Given the description of an element on the screen output the (x, y) to click on. 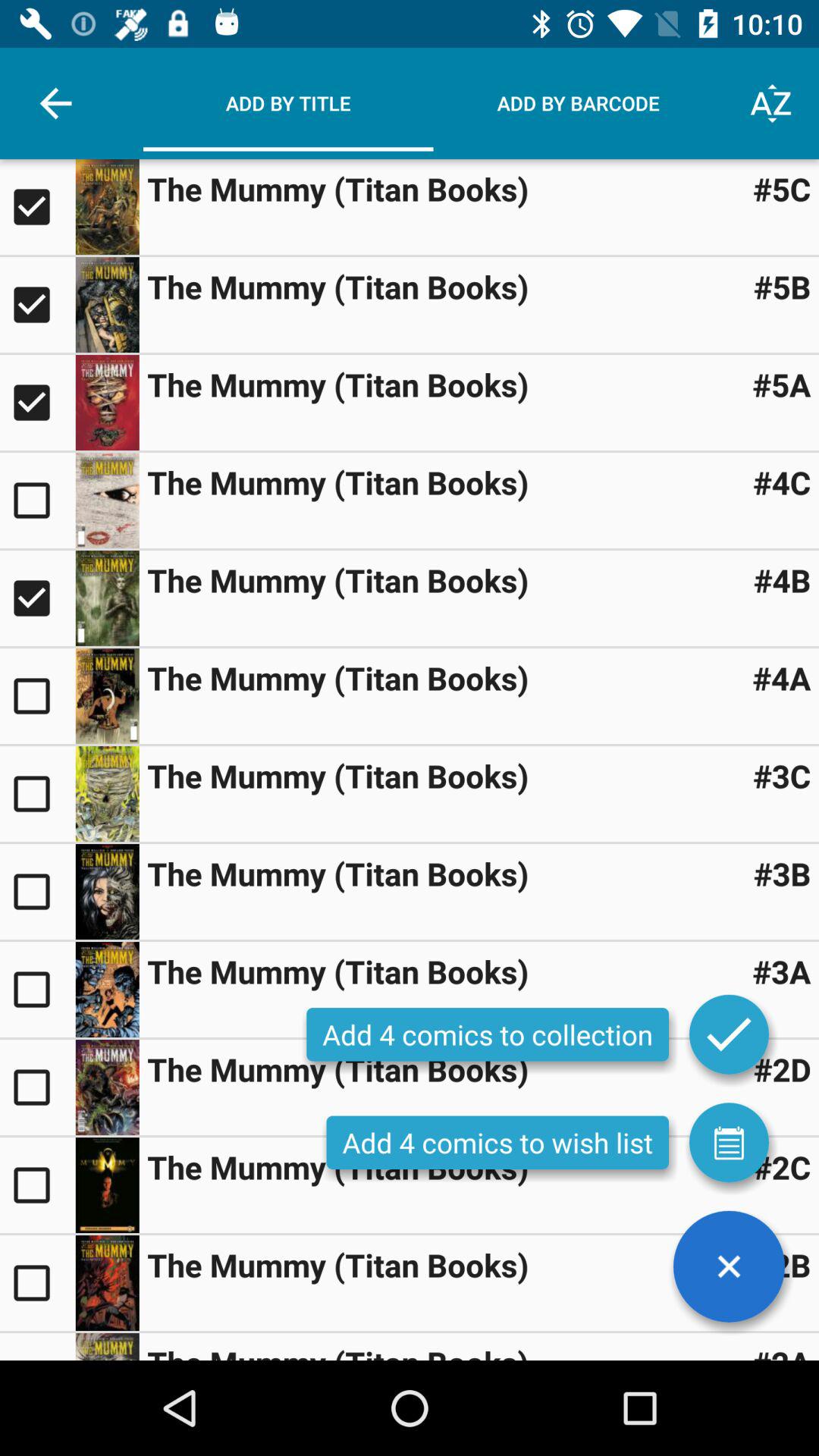
selection choice (37, 598)
